Given the description of an element on the screen output the (x, y) to click on. 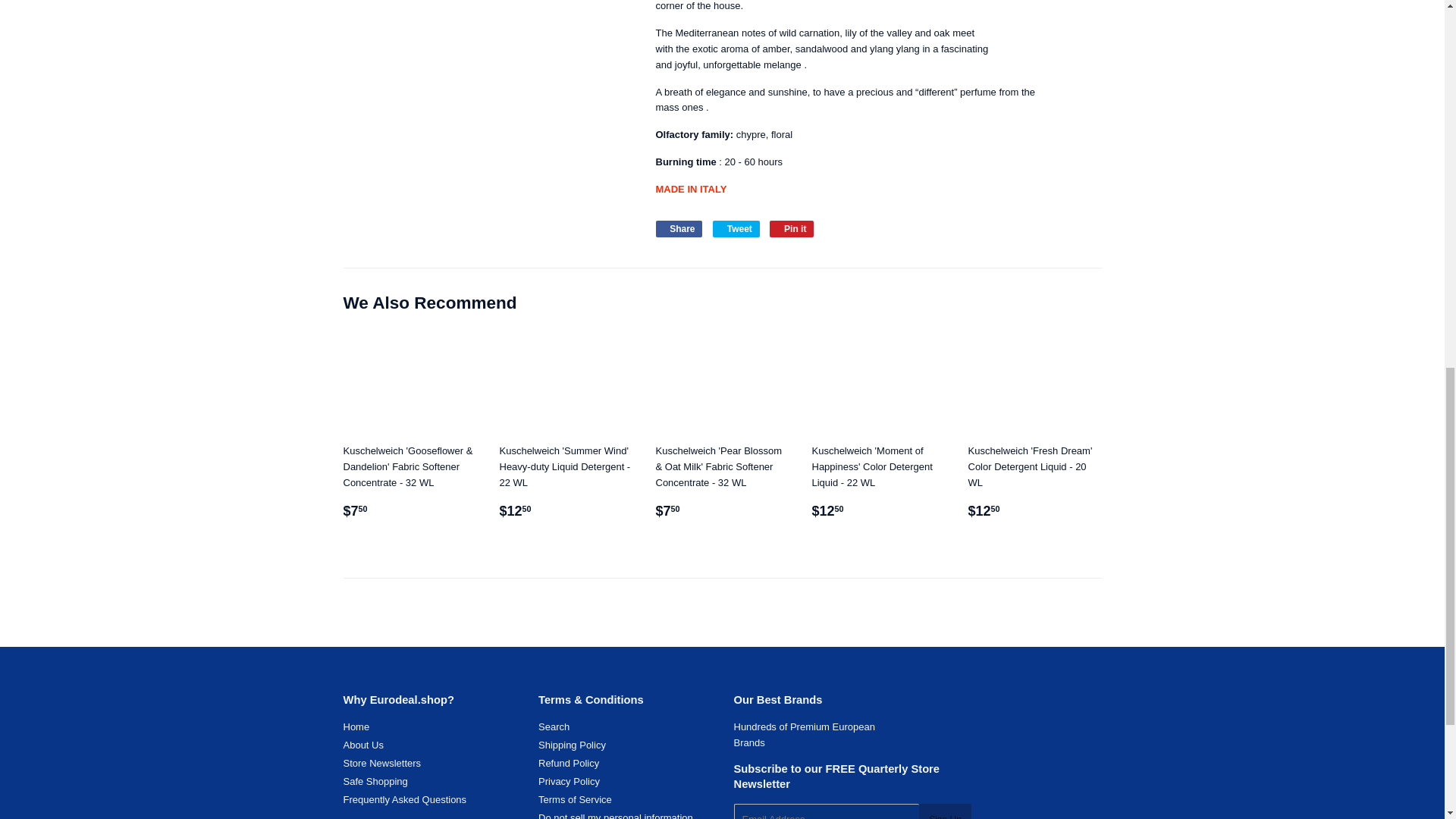
Tweet on Twitter (736, 228)
Pin on Pinterest (791, 228)
Share on Facebook (678, 228)
